Given the description of an element on the screen output the (x, y) to click on. 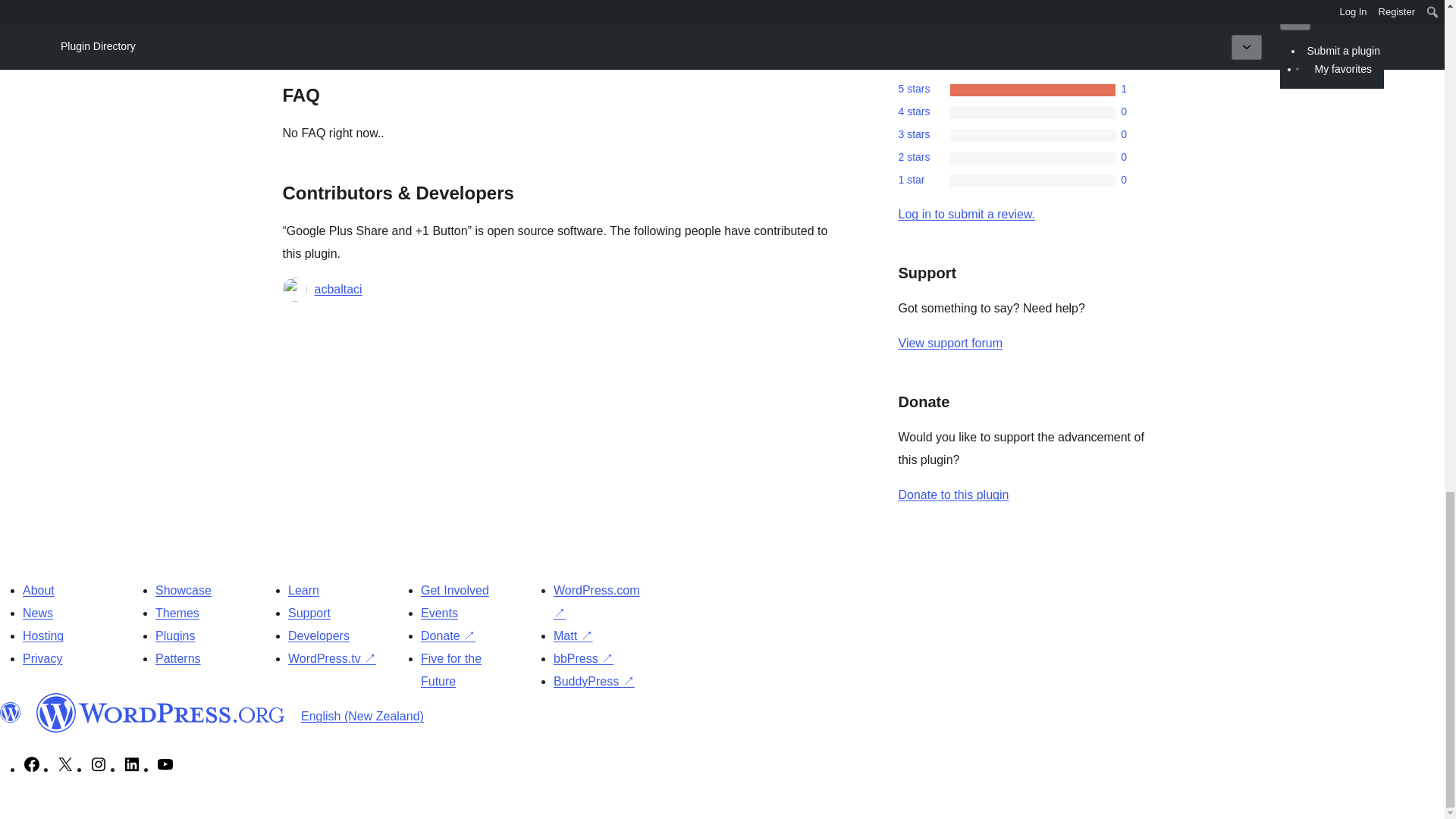
Log in to WordPress.org (966, 214)
WordPress.org (160, 712)
WordPress.org (10, 712)
acbaltaci (337, 289)
